Given the description of an element on the screen output the (x, y) to click on. 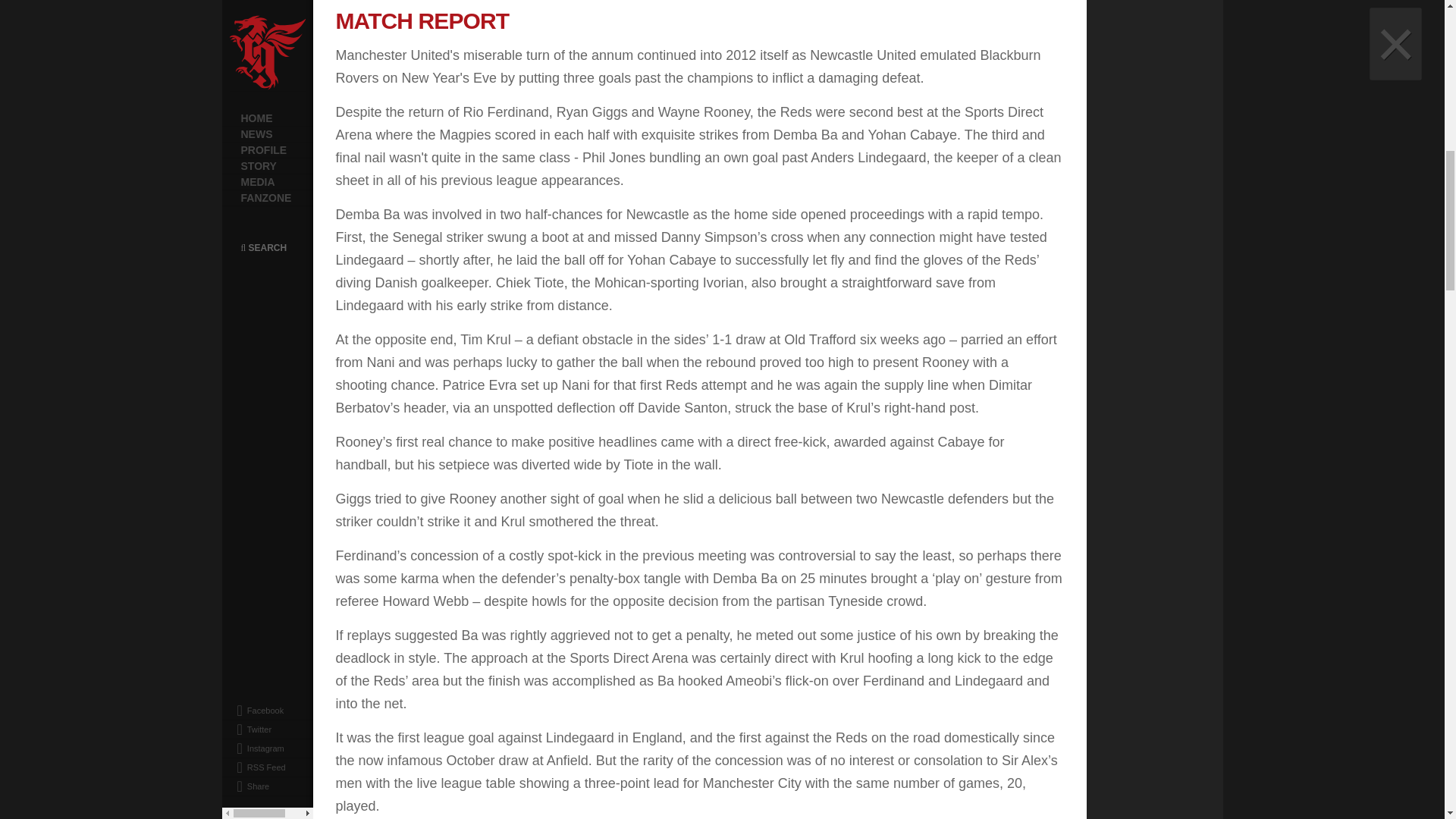
Share this Ryan Giggs related content (243, 2)
Advertisement (1199, 193)
